Given the description of an element on the screen output the (x, y) to click on. 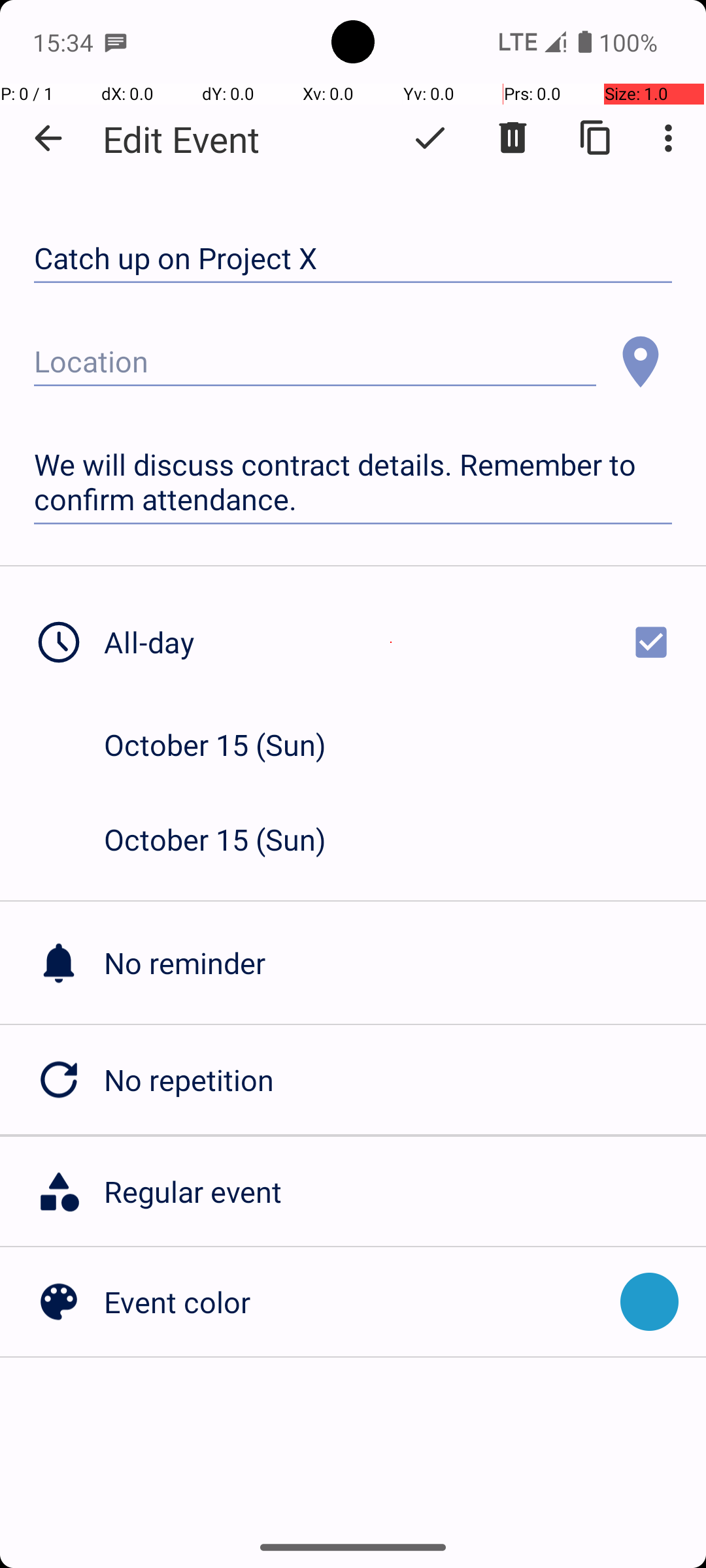
We will discuss contract details. Remember to confirm attendance. Element type: android.widget.EditText (352, 482)
